Given the description of an element on the screen output the (x, y) to click on. 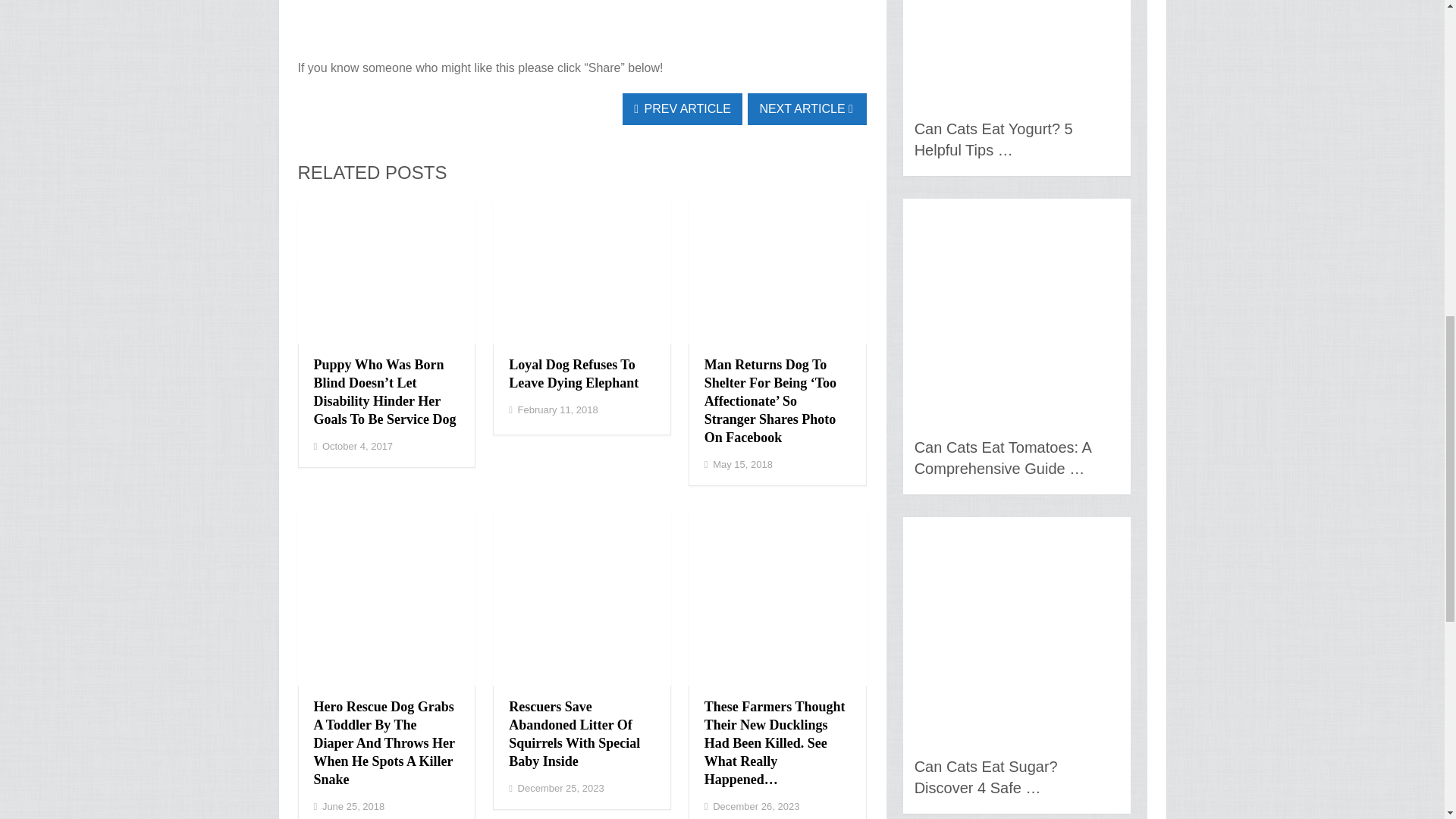
PREV ARTICLE (682, 109)
Loyal Dog Refuses To Leave Dying Elephant (573, 373)
Loyal Dog Refuses To Leave Dying Elephant (573, 373)
NEXT ARTICLE (807, 109)
